Given the description of an element on the screen output the (x, y) to click on. 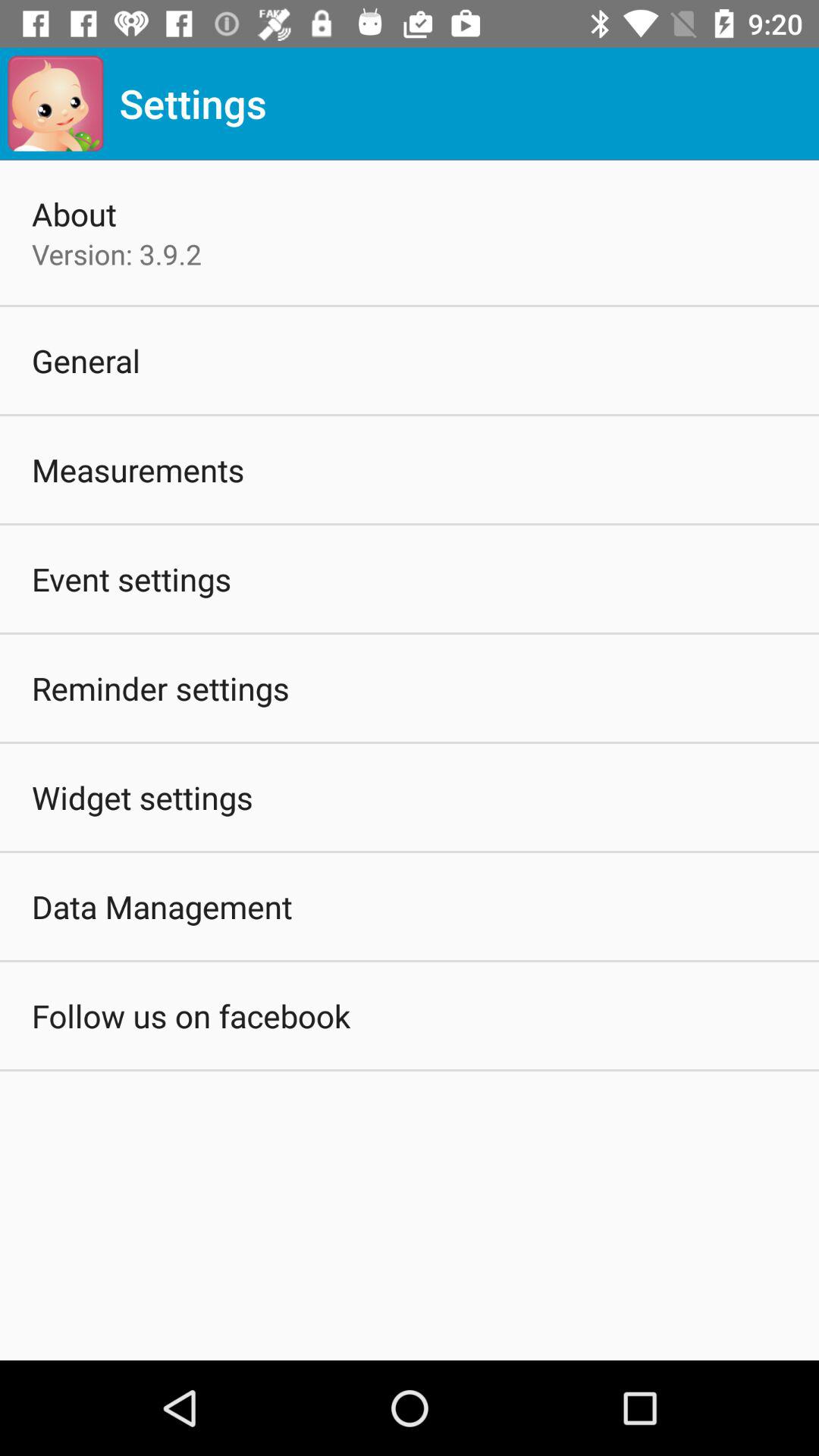
turn off the icon above about app (55, 103)
